Given the description of an element on the screen output the (x, y) to click on. 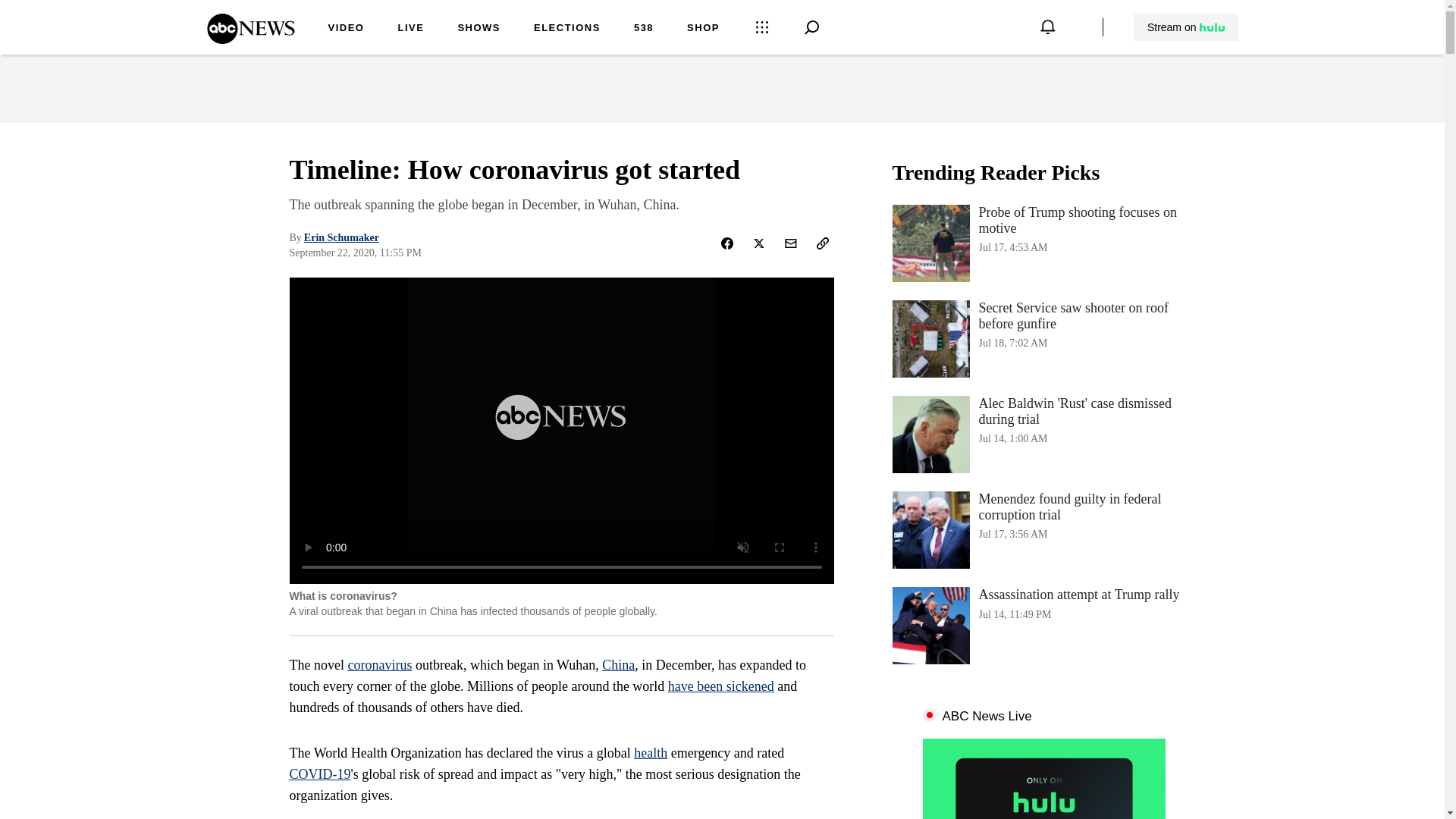
SHOWS (478, 28)
ELECTIONS (566, 28)
ABC News (250, 38)
SHOP (703, 28)
Erin Schumaker (341, 237)
LIVE (410, 28)
538 (643, 28)
COVID-19 (319, 774)
China (618, 664)
coronavirus (379, 664)
health (649, 752)
Stream on (1185, 27)
Stream on (1186, 26)
have been sickened (721, 685)
